Given the description of an element on the screen output the (x, y) to click on. 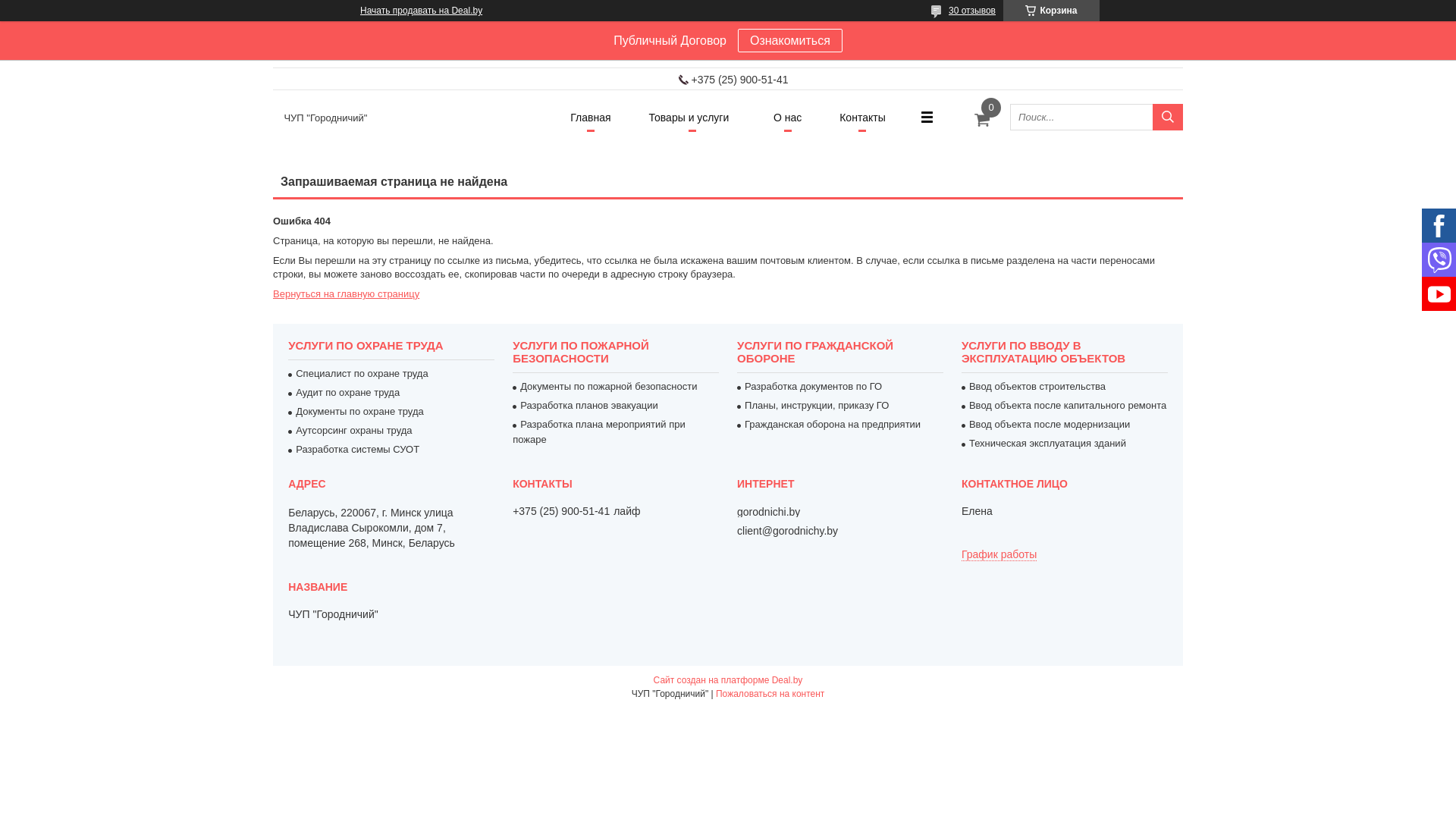
client@gorodnichy.by Element type: text (787, 530)
gorodnichi.by Element type: text (768, 511)
